Given the description of an element on the screen output the (x, y) to click on. 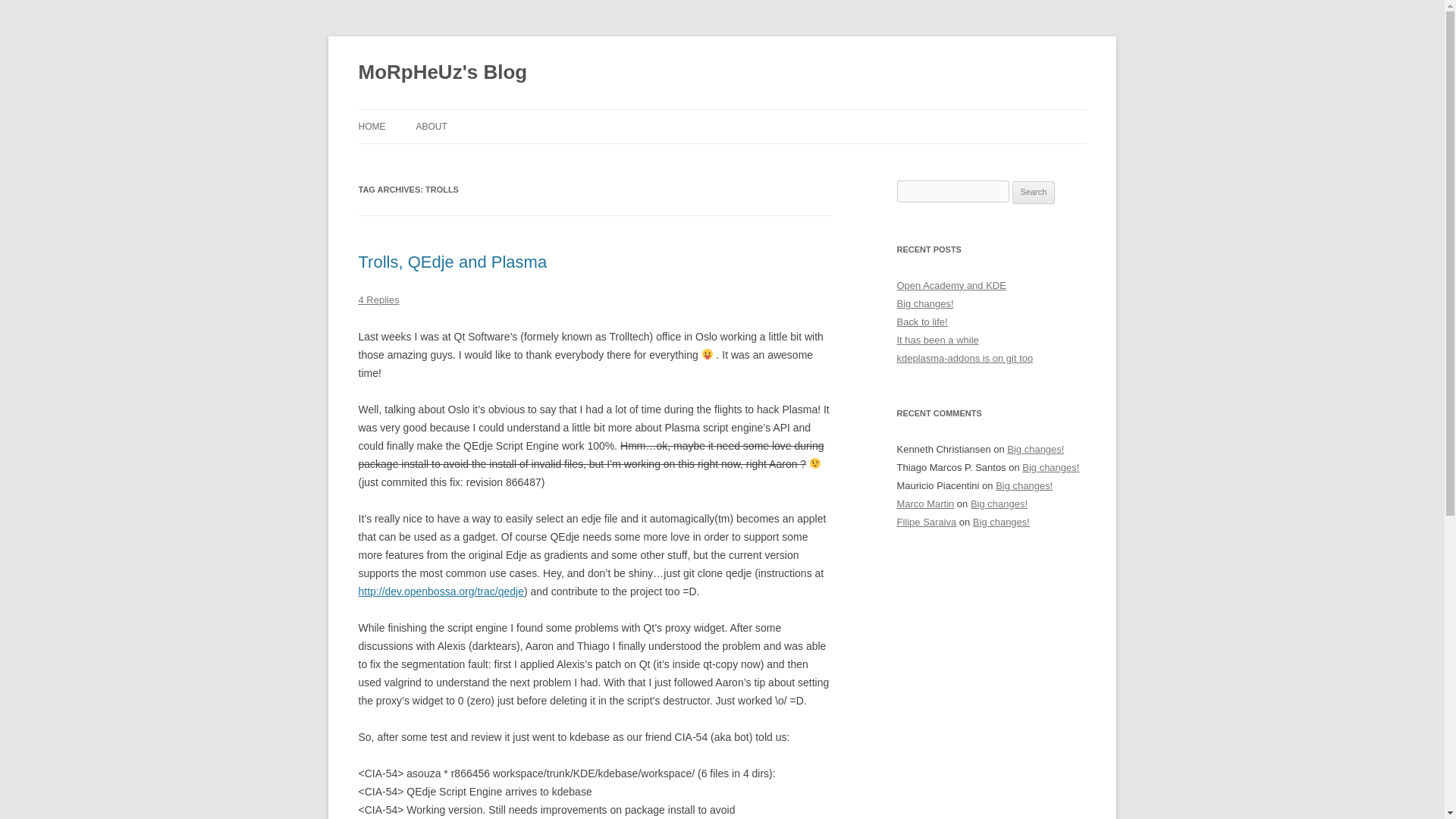
Marco Martin (924, 503)
Big changes! (1023, 485)
It has been a while (937, 339)
Big changes! (1000, 521)
ABOUT (430, 126)
Filipe Saraiva (926, 521)
Big changes! (924, 303)
MoRpHeUz's Blog (442, 72)
Big changes! (1050, 467)
Big changes! (1035, 449)
Search (1033, 191)
kdeplasma-addons is on git too (964, 357)
Big changes! (999, 503)
4 Replies (378, 299)
